Given the description of an element on the screen output the (x, y) to click on. 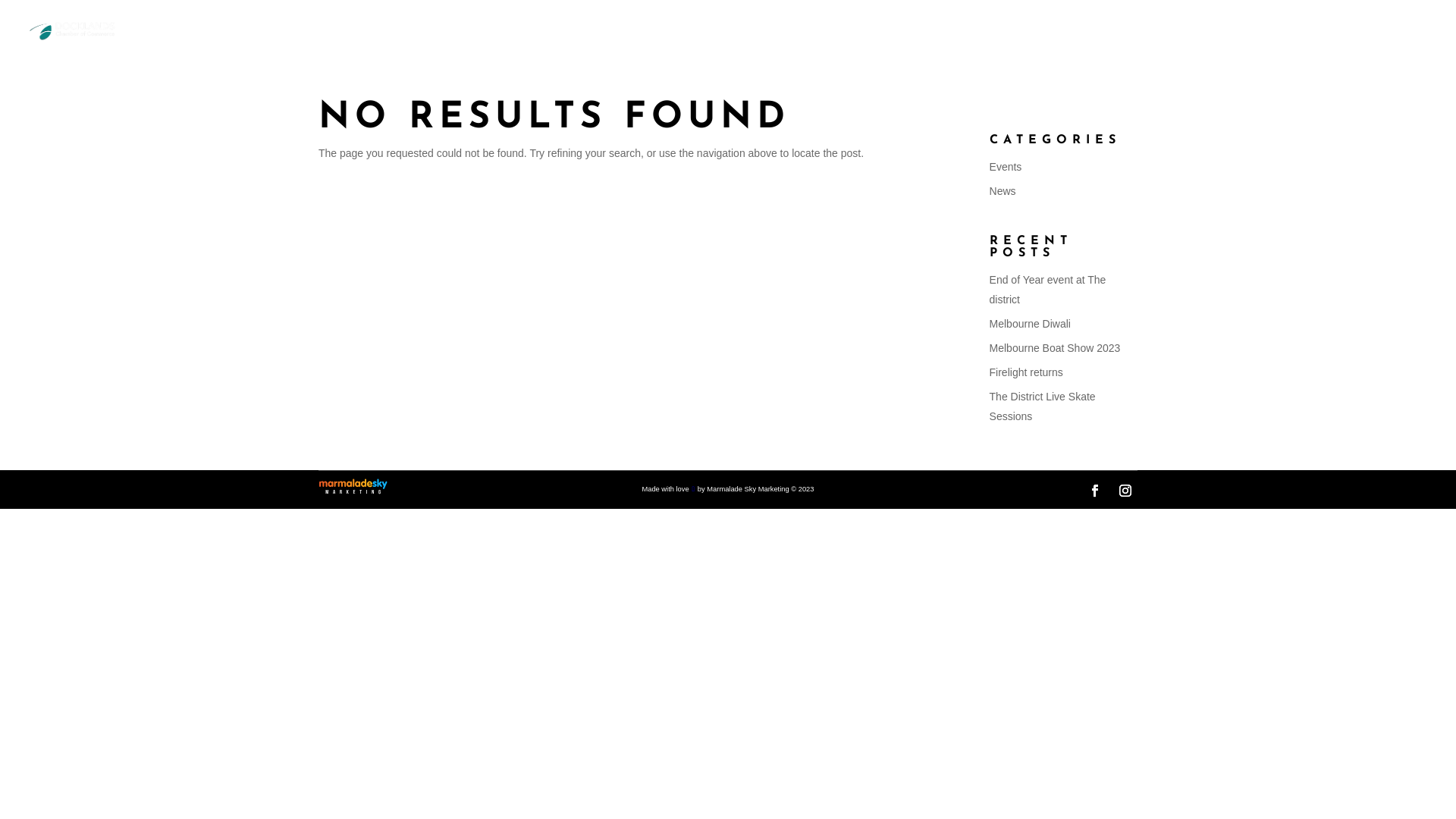
End of Year event at The district Element type: text (1047, 288)
The District Live Skate Sessions Element type: text (1042, 405)
MSM-Logo Element type: hover (352, 486)
Firelight returns Element type: text (1026, 372)
HOME Element type: text (644, 39)
CONTACT Element type: text (1156, 39)
Follow on Instagram Element type: hover (1125, 490)
BUSINESS DIRECTORY Element type: text (1330, 39)
Marmalade Sky Marketing Element type: text (747, 488)
PRECINCT PROGRAM Element type: text (803, 39)
News Element type: text (1002, 191)
Follow on Facebook Element type: hover (1094, 490)
Melbourne Boat Show 2023 Element type: text (1054, 348)
Melbourne Diwali Element type: text (1029, 323)
NEWS & EVENTS Element type: text (1010, 39)
Events Element type: text (1005, 166)
